Given the description of an element on the screen output the (x, y) to click on. 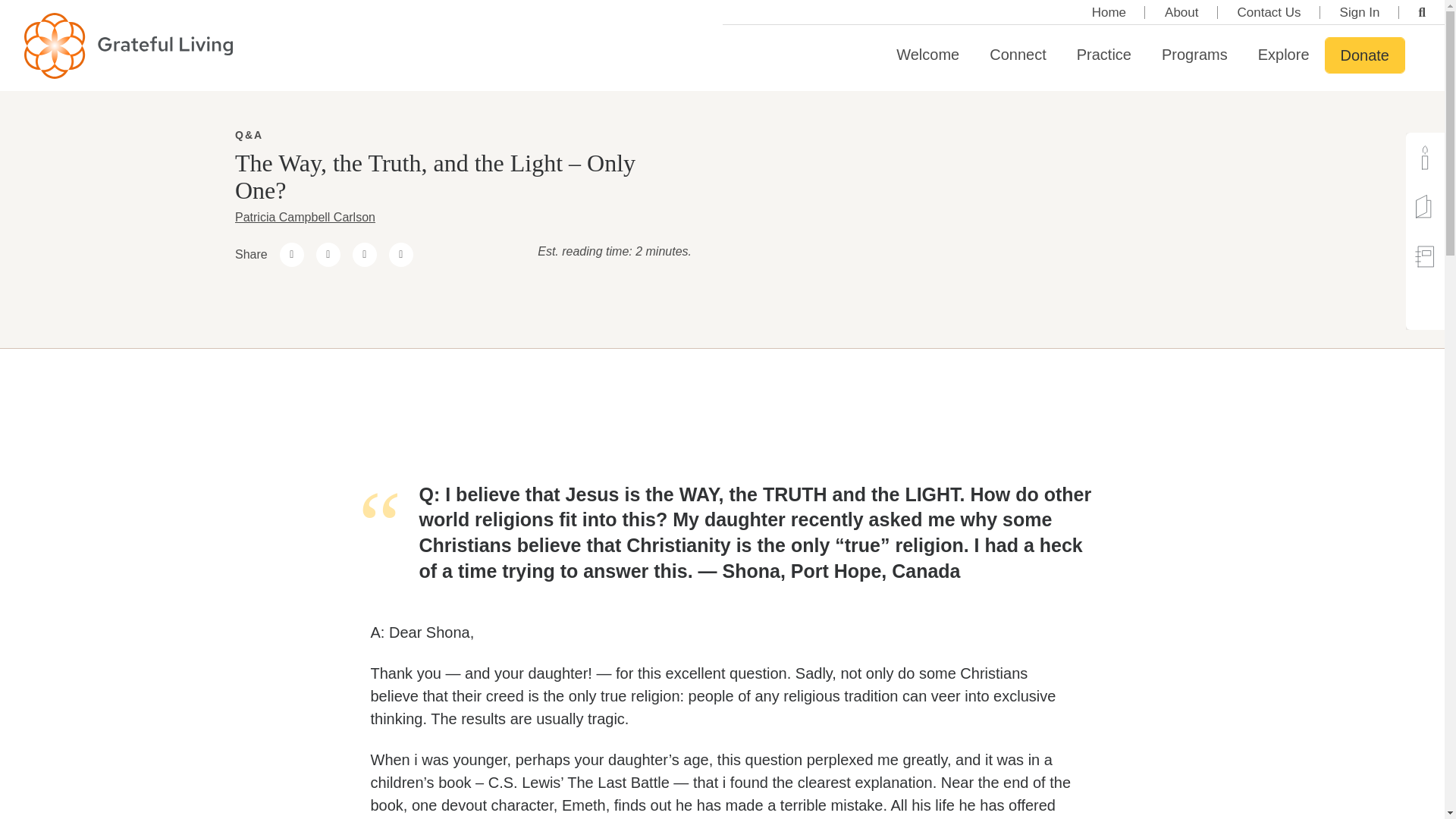
Practice (1104, 54)
Sign In (1359, 11)
Patricia Campbell Carlson (304, 216)
Patricia Campbell Carlson (304, 216)
Share on Threads (327, 254)
Welcome (927, 54)
Connect (1017, 54)
Explore (1283, 54)
Practice (1104, 54)
Connect (1017, 54)
